Given the description of an element on the screen output the (x, y) to click on. 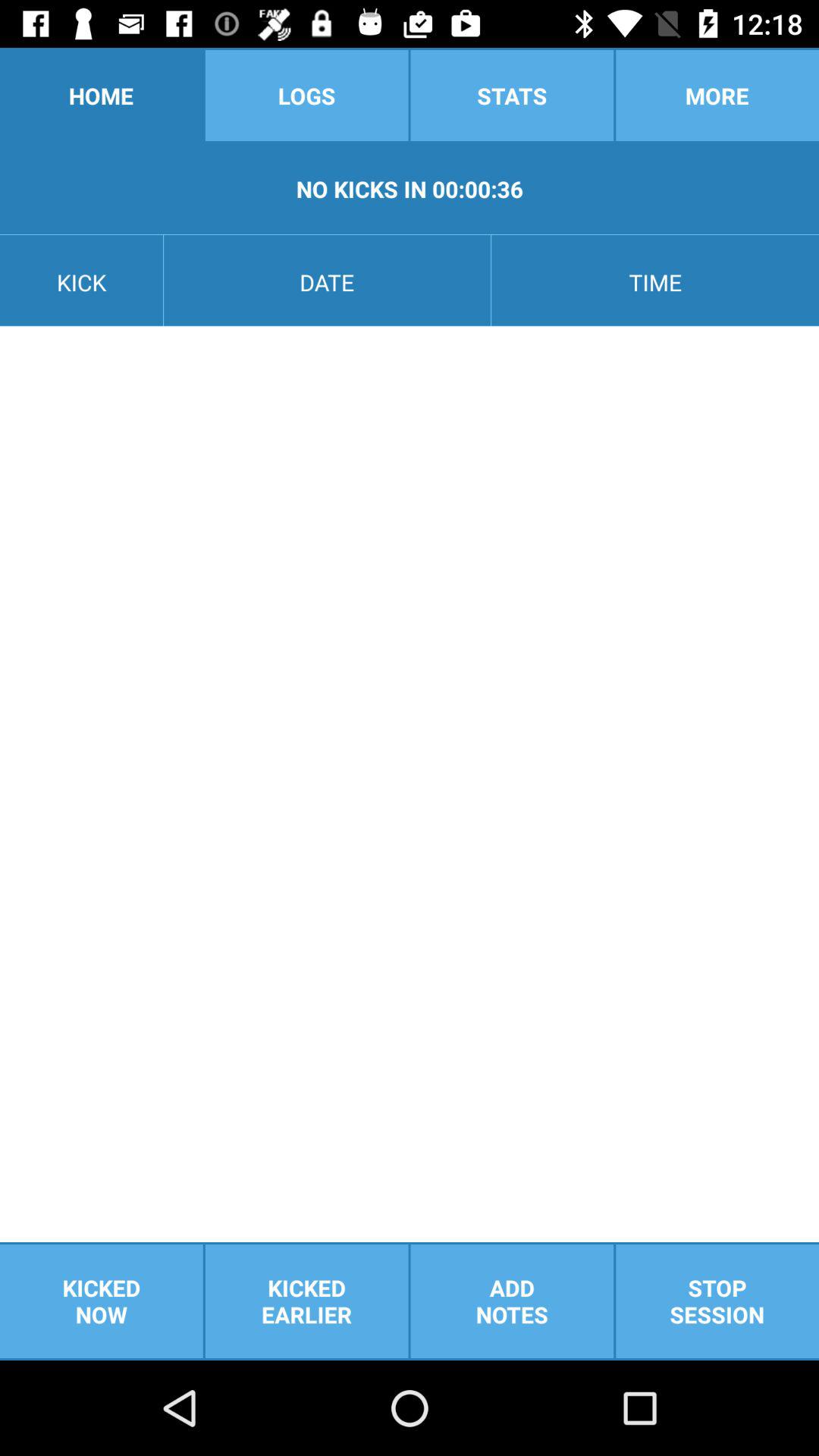
scroll to the stats button (511, 95)
